Given the description of an element on the screen output the (x, y) to click on. 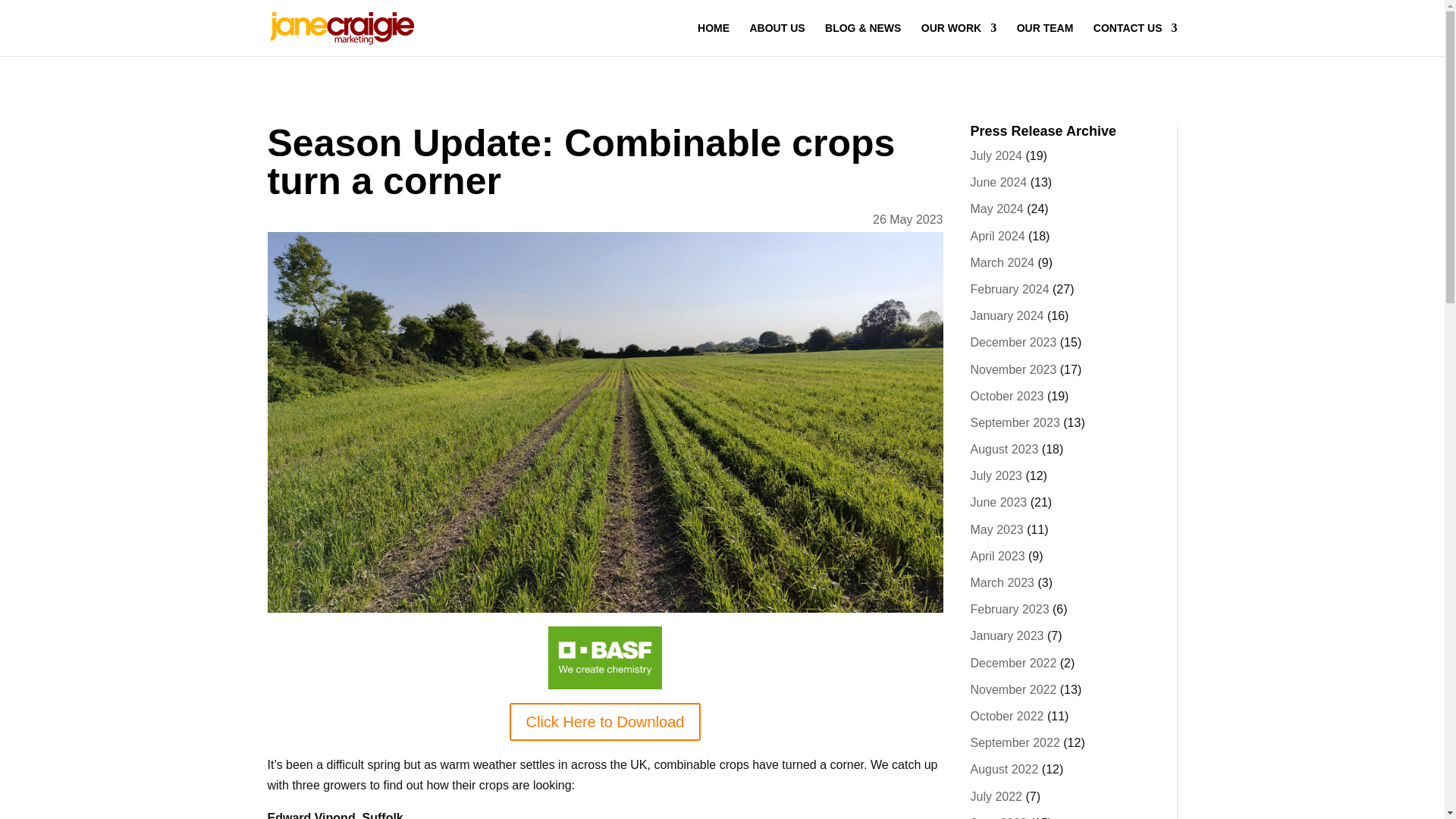
February 2023 (1010, 608)
August 2023 (1005, 449)
December 2023 (1014, 341)
September 2023 (1015, 422)
January 2024 (1007, 315)
OUR TEAM (1045, 39)
February 2024 (1010, 288)
December 2022 (1014, 662)
CONTACT US (1135, 39)
July 2024 (997, 155)
January 2023 (1007, 635)
May 2023 (997, 529)
June 2024 (999, 182)
July 2023 (997, 475)
